Given the description of an element on the screen output the (x, y) to click on. 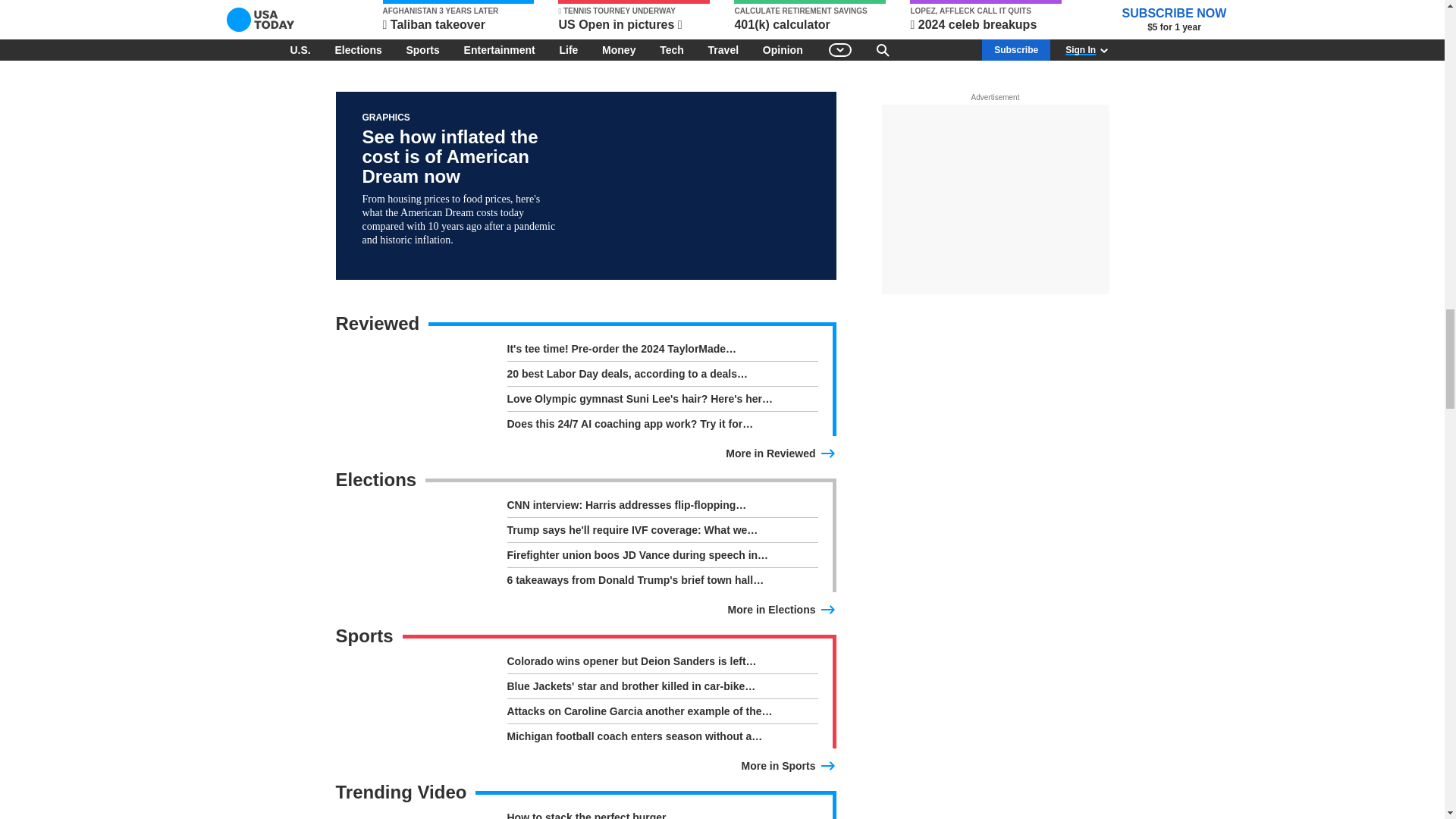
Firefighter union boos JD Vance during speech in Boston (661, 557)
Trump says he'll require IVF coverage: What we know (661, 532)
Love Olympic gymnast Suni Lee's hair? Here's her secret (661, 401)
CNN interview: Harris addresses flip-flopping, Trump attacks (661, 507)
20 best Labor Day deals, according to a deals editor (661, 376)
